Given the description of an element on the screen output the (x, y) to click on. 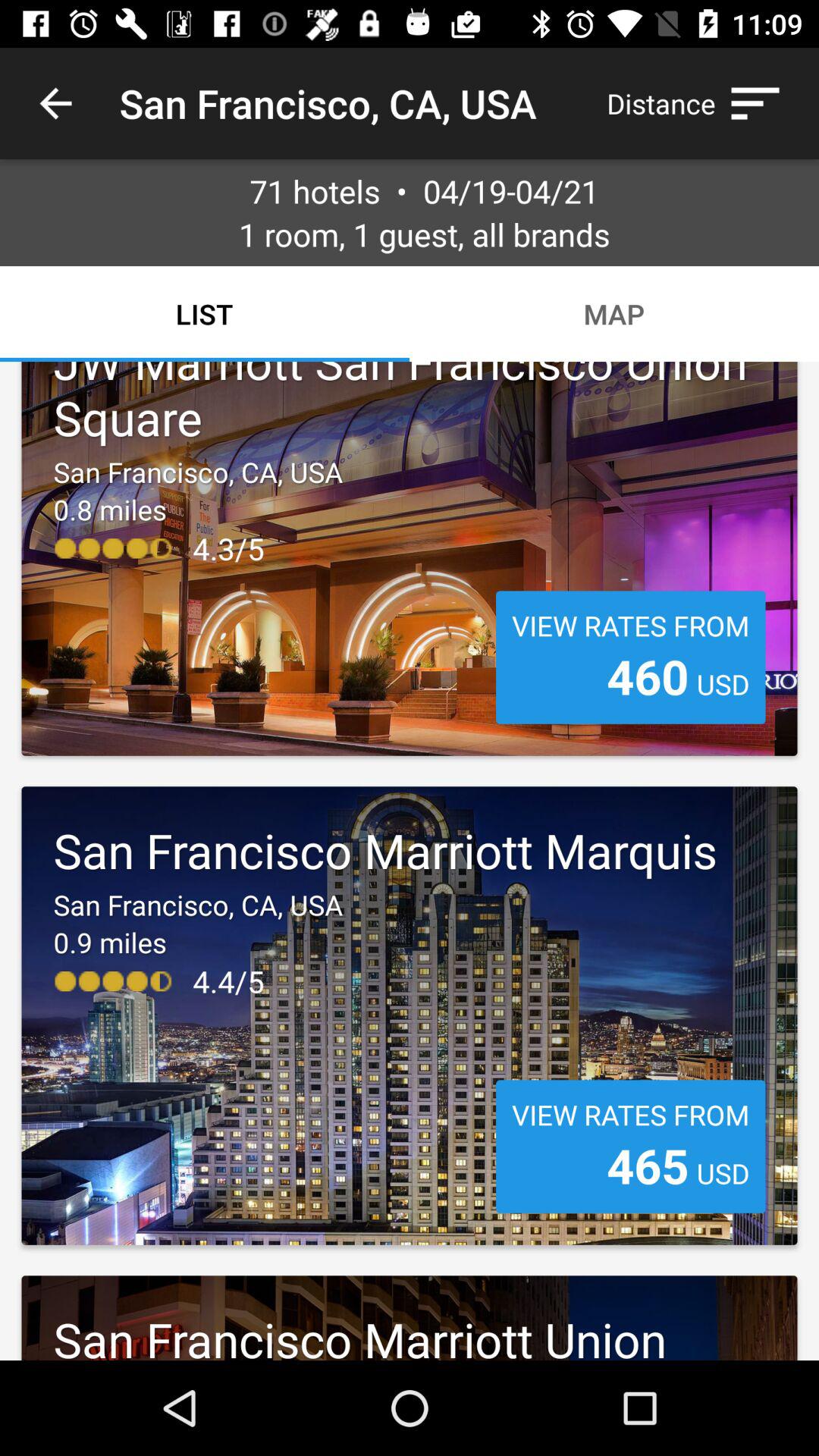
select item to the left of the usd icon (647, 676)
